Given the description of an element on the screen output the (x, y) to click on. 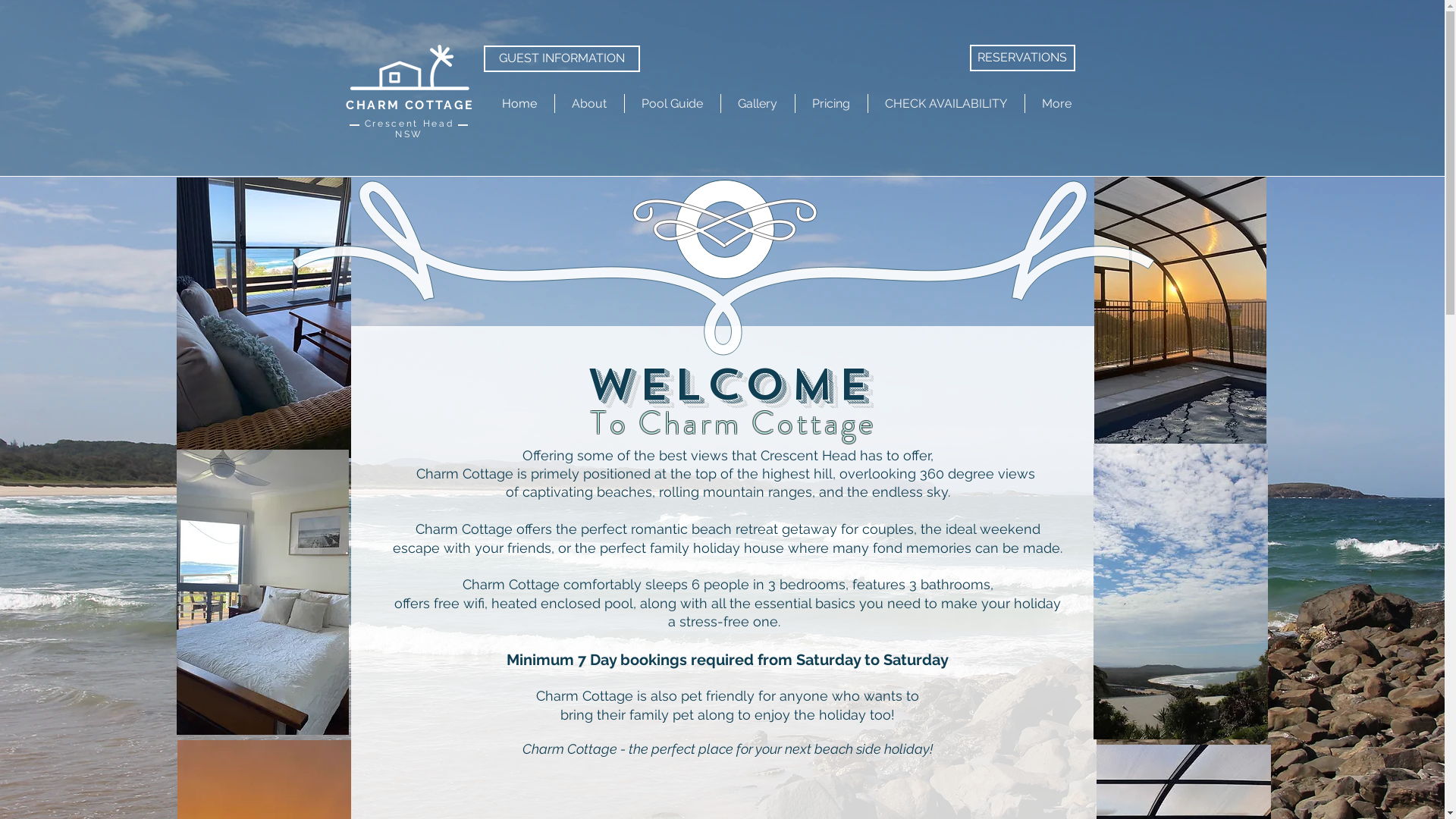
Crescent Head Element type: text (408, 123)
Pricing Element type: text (830, 103)
Home Element type: text (519, 103)
Gallery Element type: text (756, 103)
CHECK AVAILABILITY Element type: text (945, 103)
RESERVATIONS Element type: text (1021, 57)
About Element type: text (589, 103)
Pool Guide Element type: text (672, 103)
GUEST INFORMATION Element type: text (561, 58)
